Given the description of an element on the screen output the (x, y) to click on. 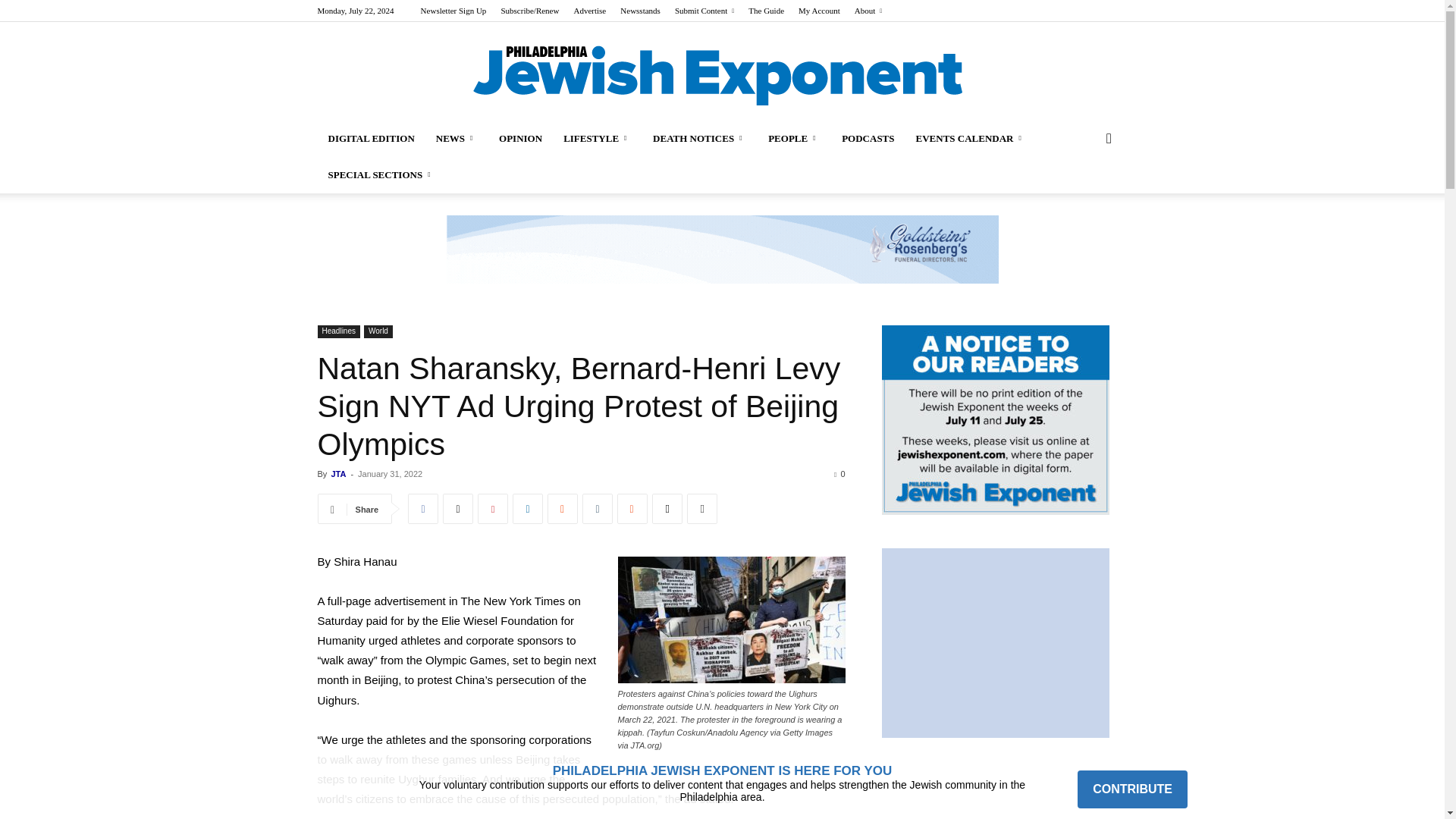
Linkedin (527, 508)
Newsletter Sign Up (453, 10)
Twitter (457, 508)
Email (667, 508)
Tumblr (597, 508)
Mix (632, 508)
ReddIt (562, 508)
Print (702, 508)
Pinterest (492, 508)
Facebook (422, 508)
